Given the description of an element on the screen output the (x, y) to click on. 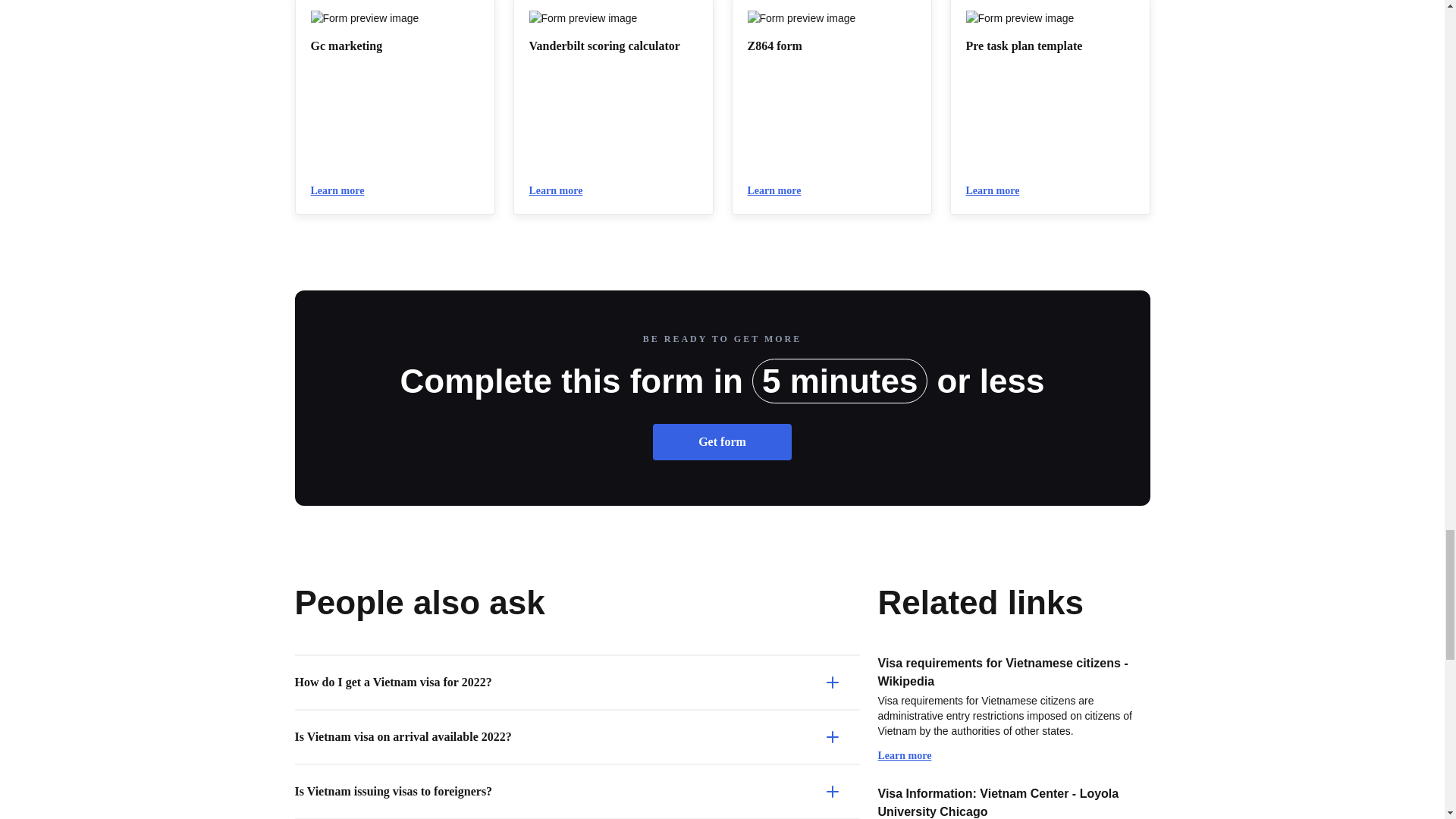
Learn more (781, 191)
Learn more (999, 191)
Get form (722, 441)
Learn more (910, 755)
Learn more (562, 191)
Learn more (344, 191)
